Given the description of an element on the screen output the (x, y) to click on. 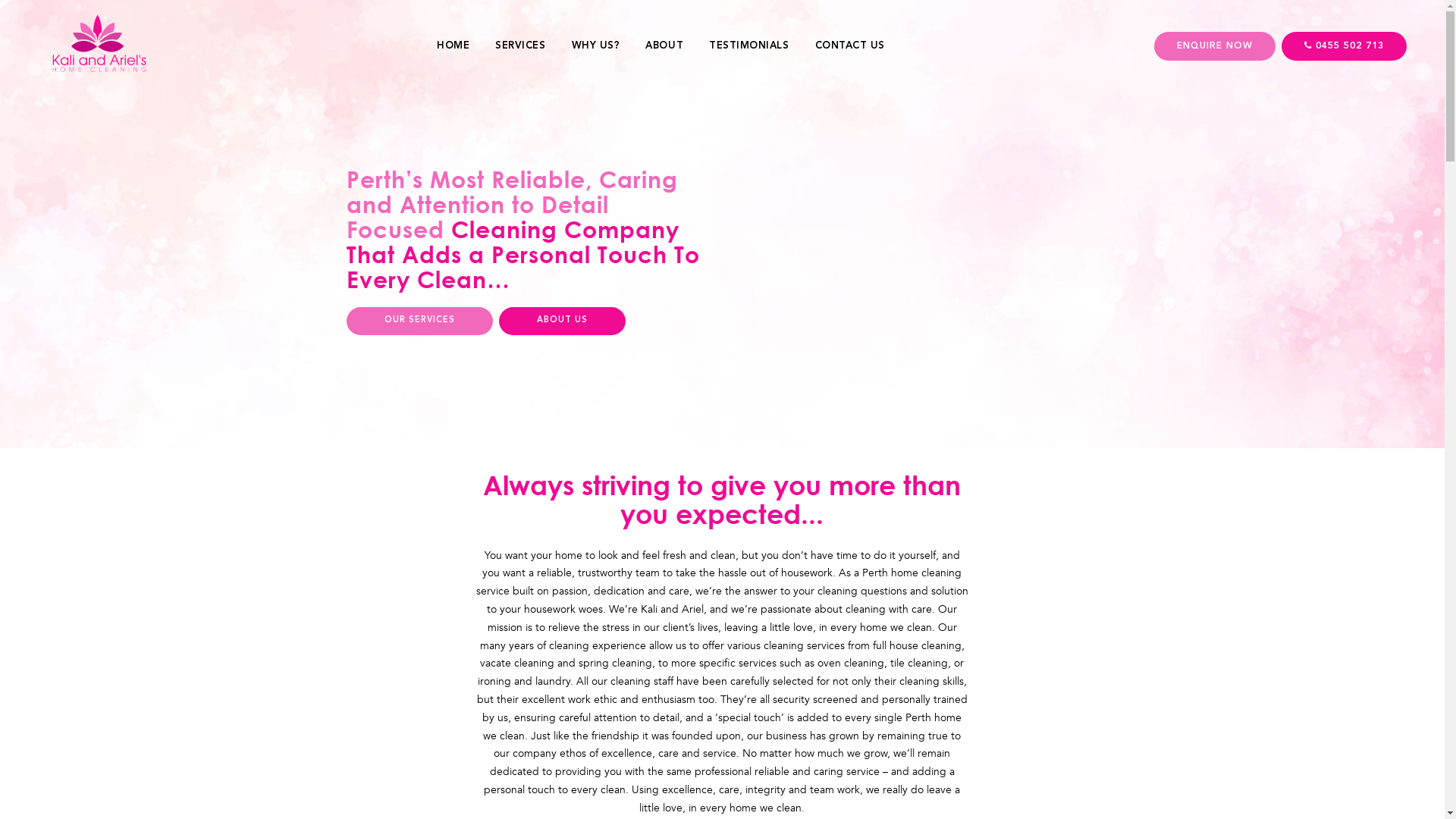
WHY US? Element type: text (595, 45)
OUR SERVICES Element type: text (418, 321)
SERVICES Element type: text (519, 45)
HOME Element type: text (452, 45)
0455 502 713 Element type: text (1343, 45)
ABOUT Element type: text (663, 45)
ENQUIRE NOW Element type: text (1214, 45)
CONTACT US Element type: text (849, 45)
TESTIMONIALS Element type: text (748, 45)
Kali & Ariel's Home Cleaning Element type: hover (916, 269)
ABOUT US Element type: text (561, 321)
